Given the description of an element on the screen output the (x, y) to click on. 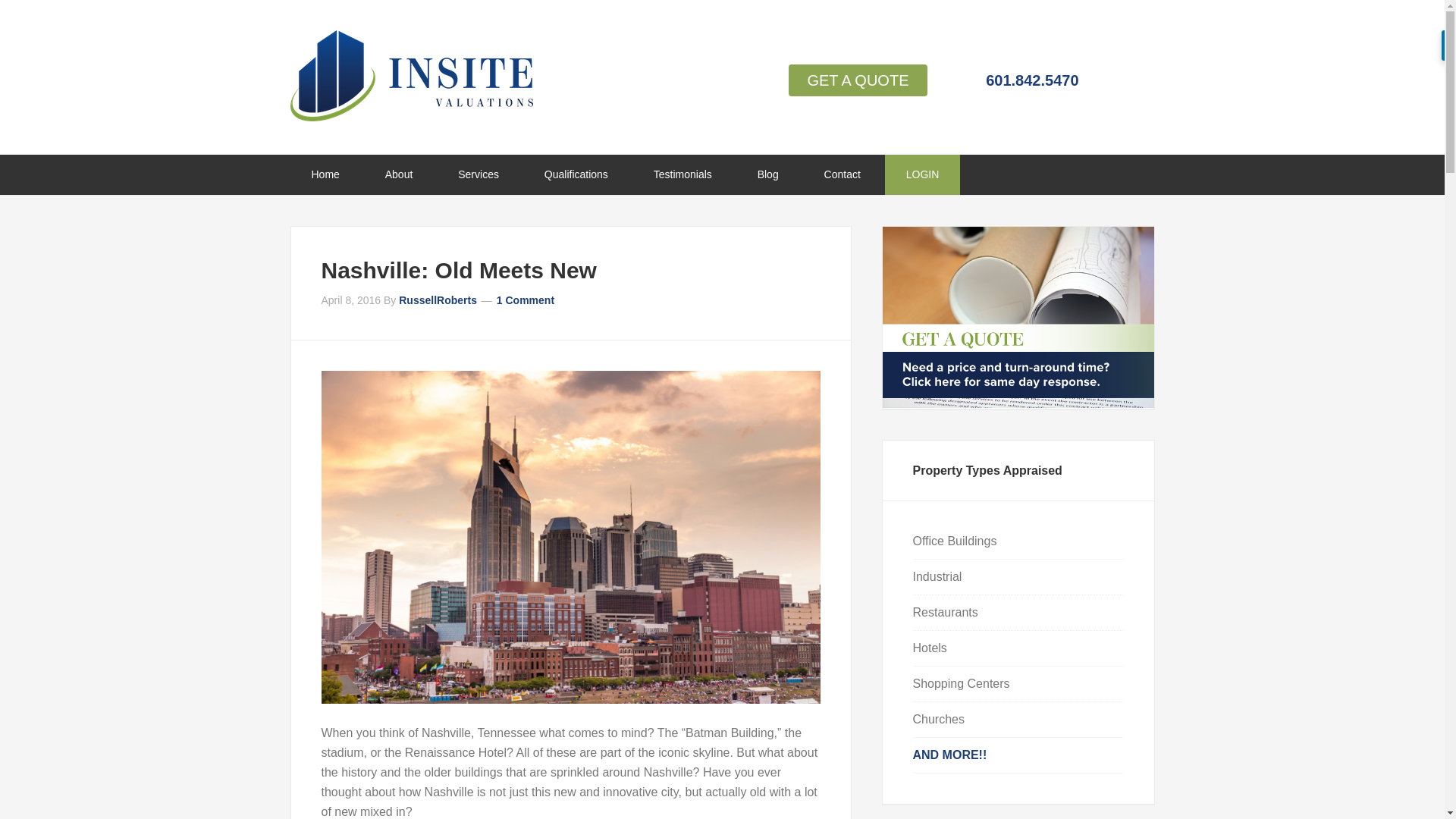
Insite Valuations (410, 75)
Services (477, 174)
About (398, 174)
Home (324, 174)
Testimonials (682, 174)
RussellRoberts (437, 300)
GET A QUOTE (857, 80)
1 Comment (525, 300)
601.842.5470 (1028, 80)
AND MORE!! (949, 754)
Blog (767, 174)
LOGIN (922, 174)
Contact (842, 174)
Qualifications (575, 174)
